Given the description of an element on the screen output the (x, y) to click on. 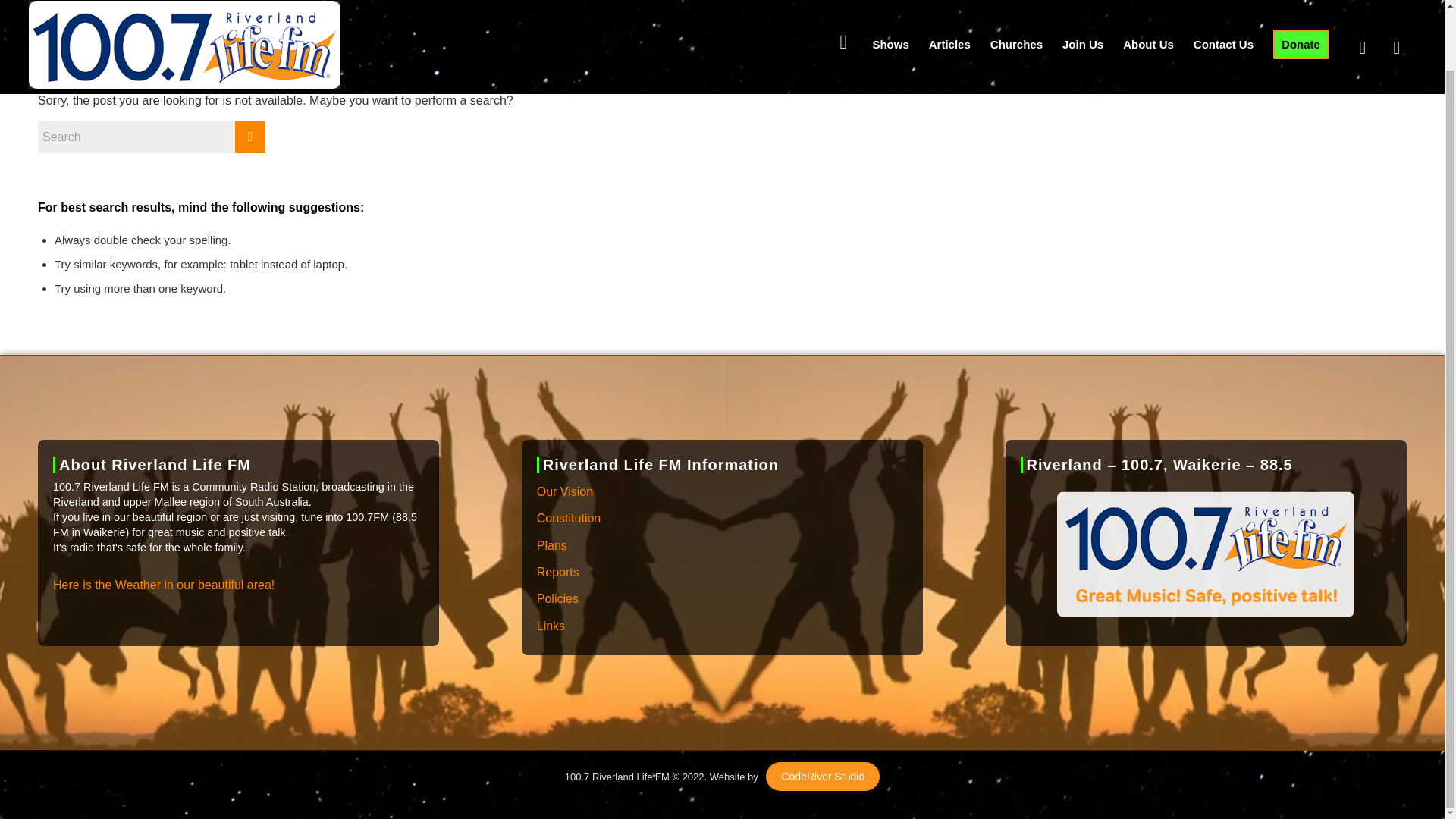
Articles (948, 11)
About Us (1148, 11)
Constitution (722, 519)
Donate (1300, 11)
Join Us (1082, 11)
Contact Us (1223, 11)
Churches (1015, 11)
Plans (722, 546)
Here is the Weather in our beautiful area! (163, 585)
Our Vision (722, 492)
Shows (889, 11)
